Given the description of an element on the screen output the (x, y) to click on. 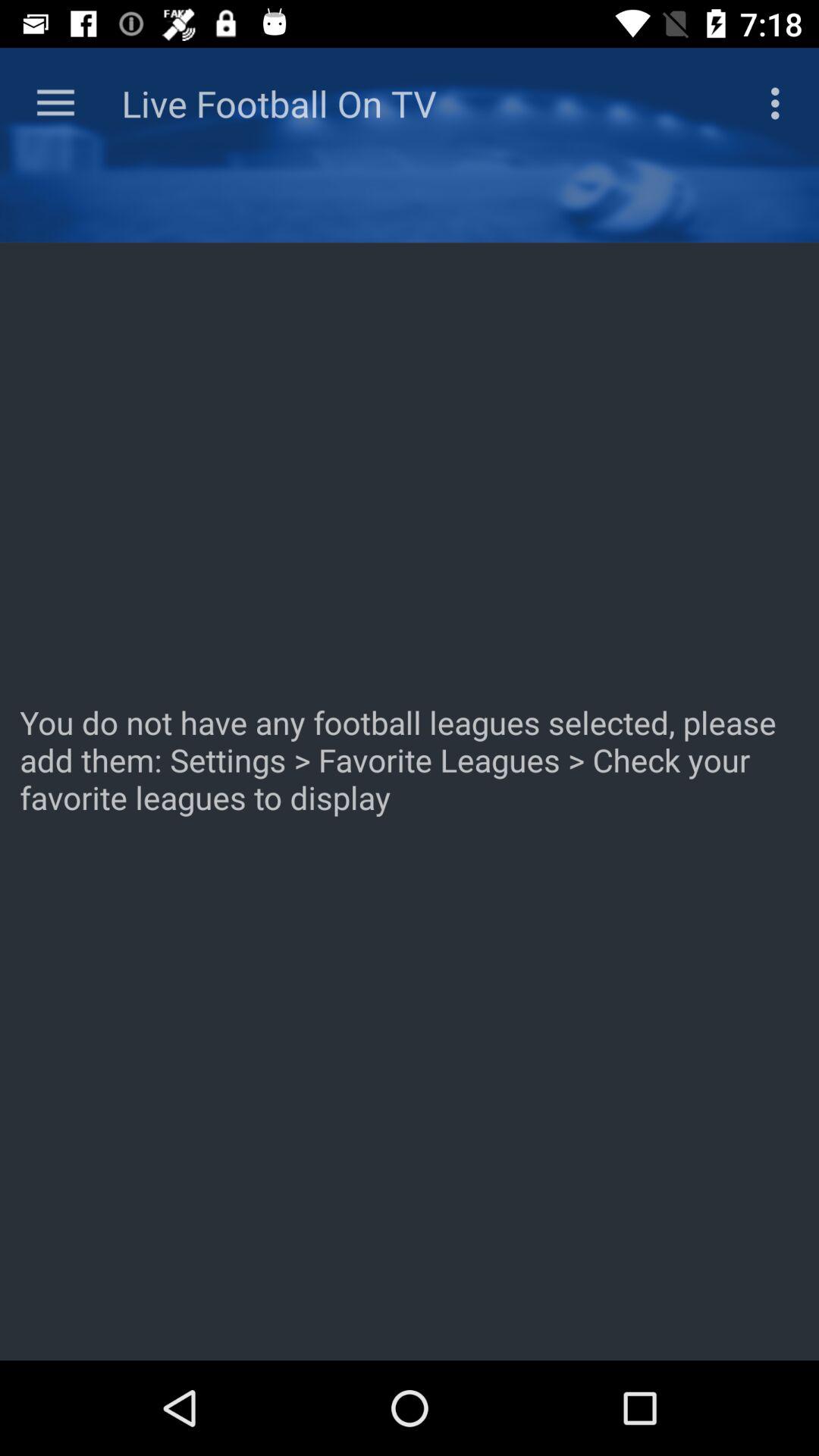
select icon next to the live football on icon (779, 103)
